Given the description of an element on the screen output the (x, y) to click on. 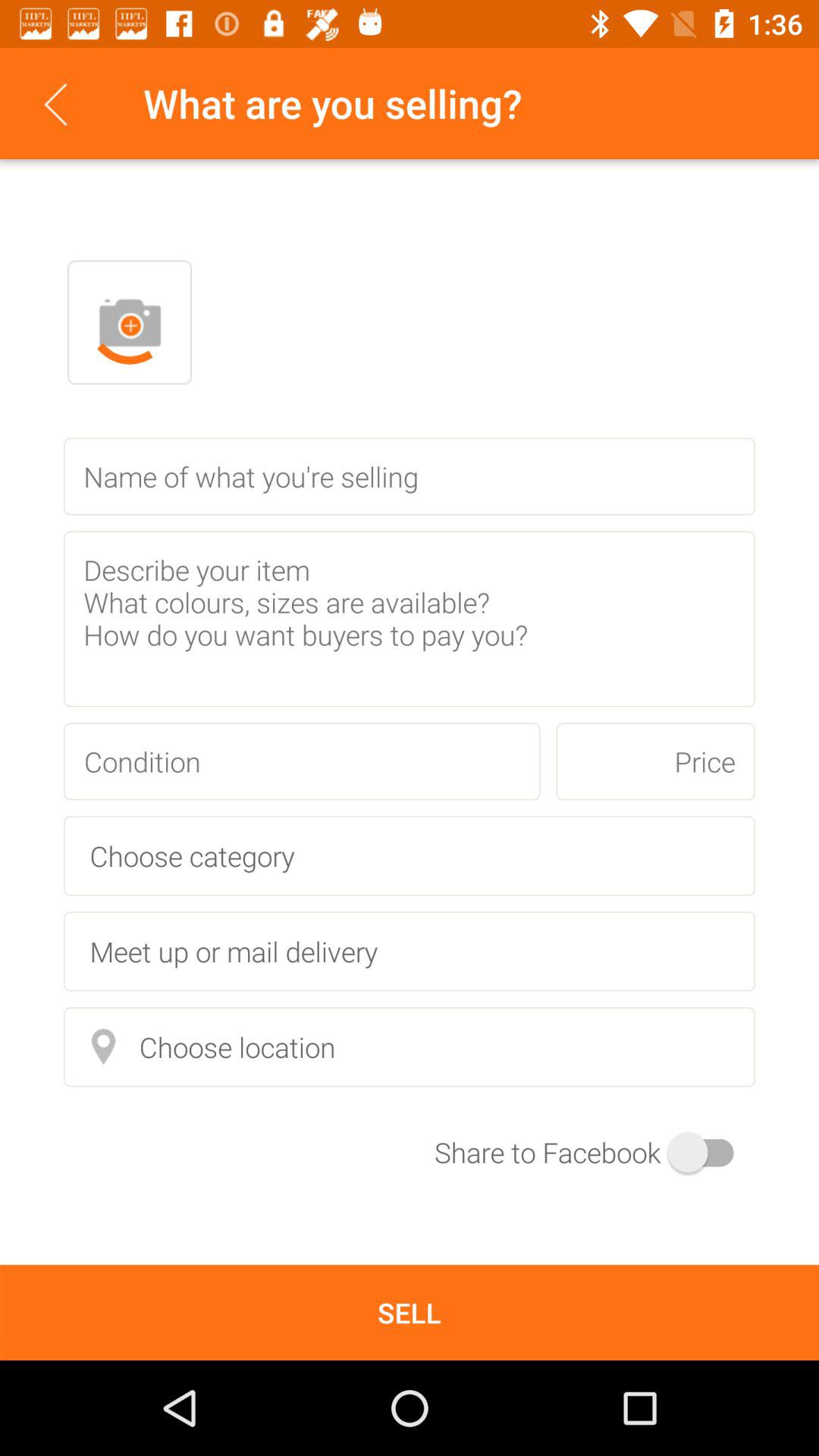
turn on icon above the meet up or (409, 855)
